Given the description of an element on the screen output the (x, y) to click on. 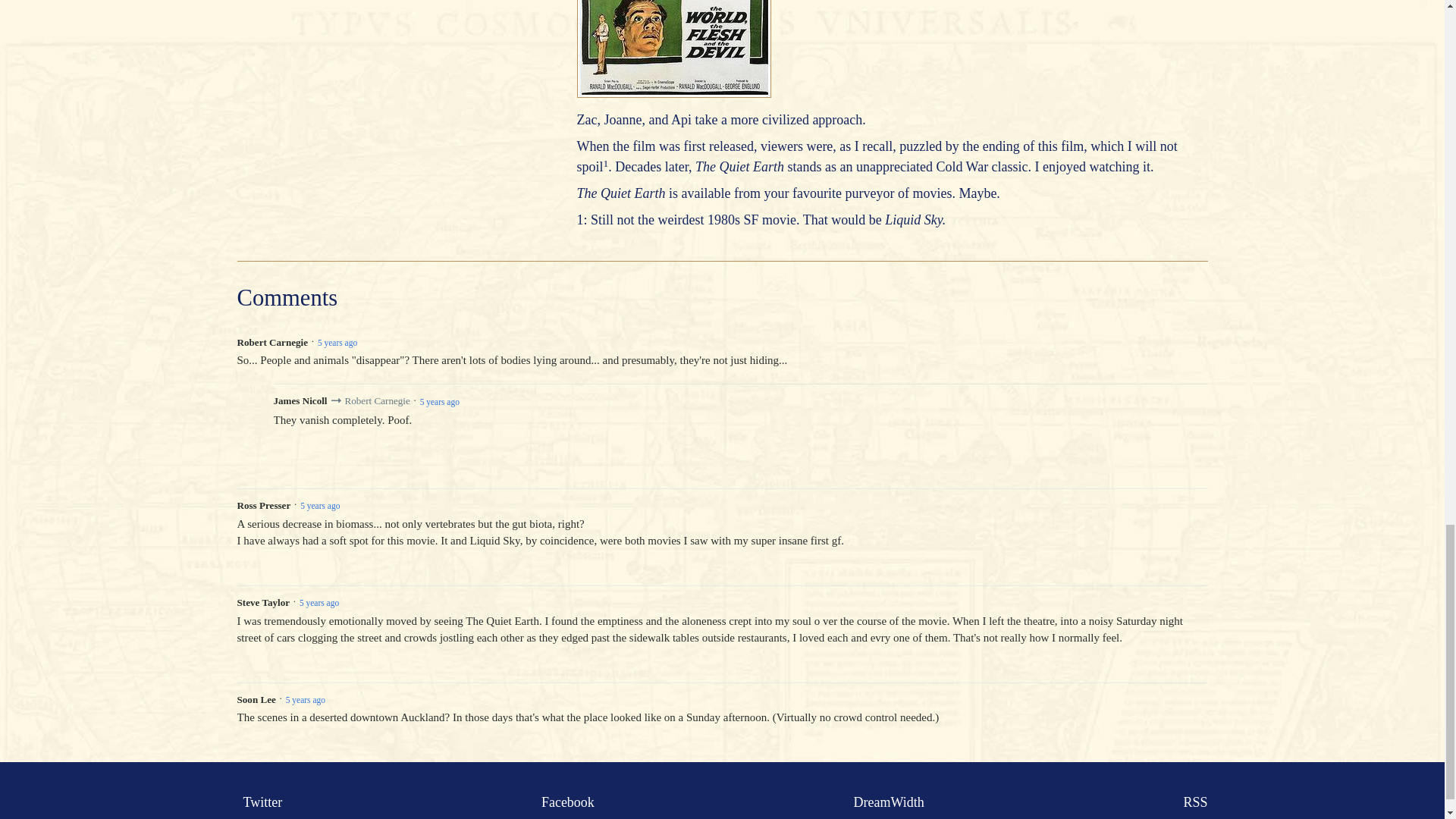
Robert Carnegie (376, 400)
5 years ago (319, 505)
5 years ago (319, 602)
5 years ago (336, 342)
Facebook (564, 801)
DreamWidth (885, 801)
5 years ago (440, 401)
RSS (1191, 801)
5 years ago (304, 699)
Twitter (258, 801)
